Given the description of an element on the screen output the (x, y) to click on. 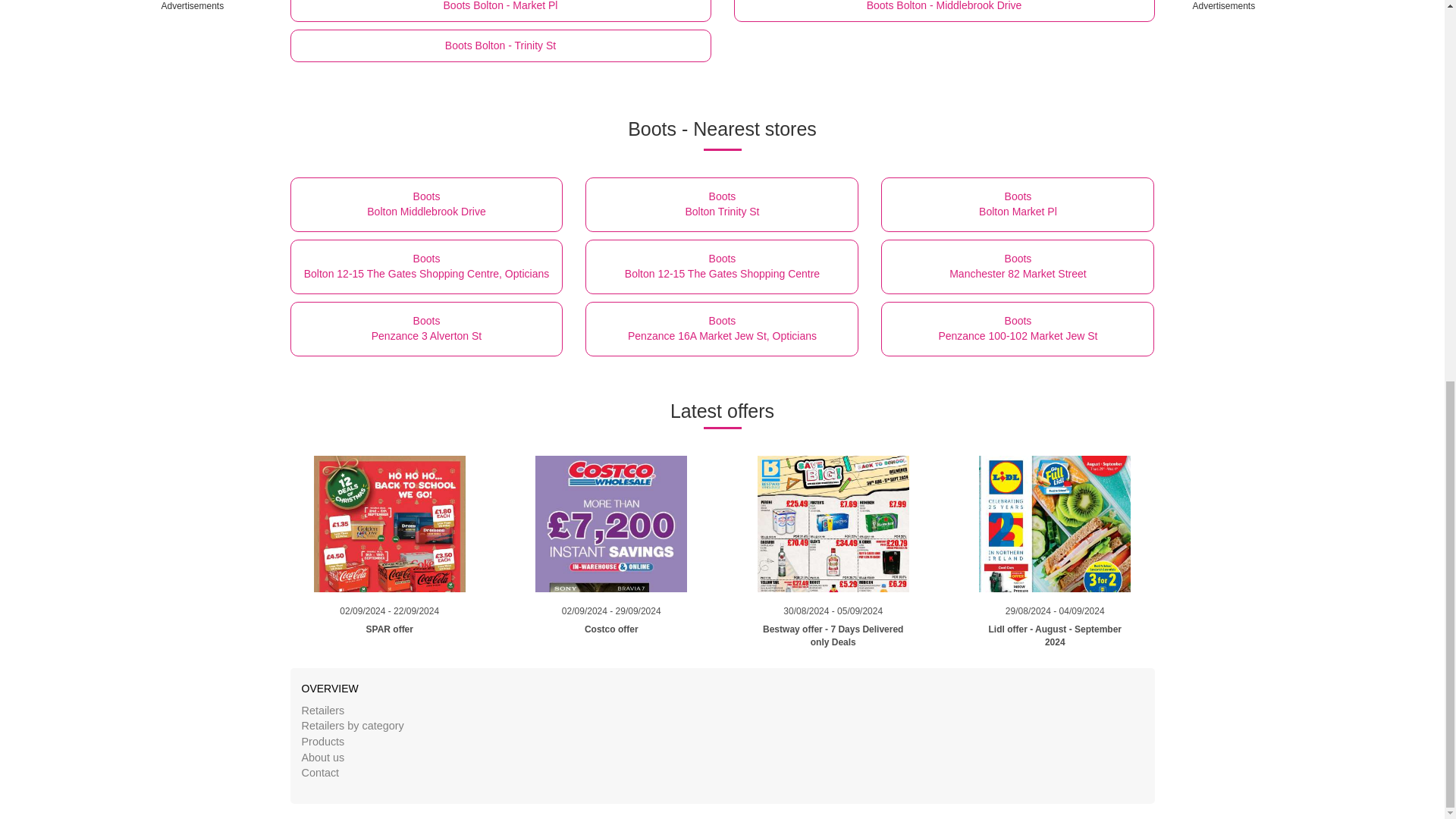
Boots Bolton - Middlebrook Drive (943, 11)
SPAR offer (389, 523)
Costco offer (611, 523)
Costco offer (611, 637)
Costco offer (722, 204)
SPAR offer (611, 637)
Lidl offer - August - September 2024 (389, 637)
Boots Bolton - Trinity St (1017, 329)
